Given the description of an element on the screen output the (x, y) to click on. 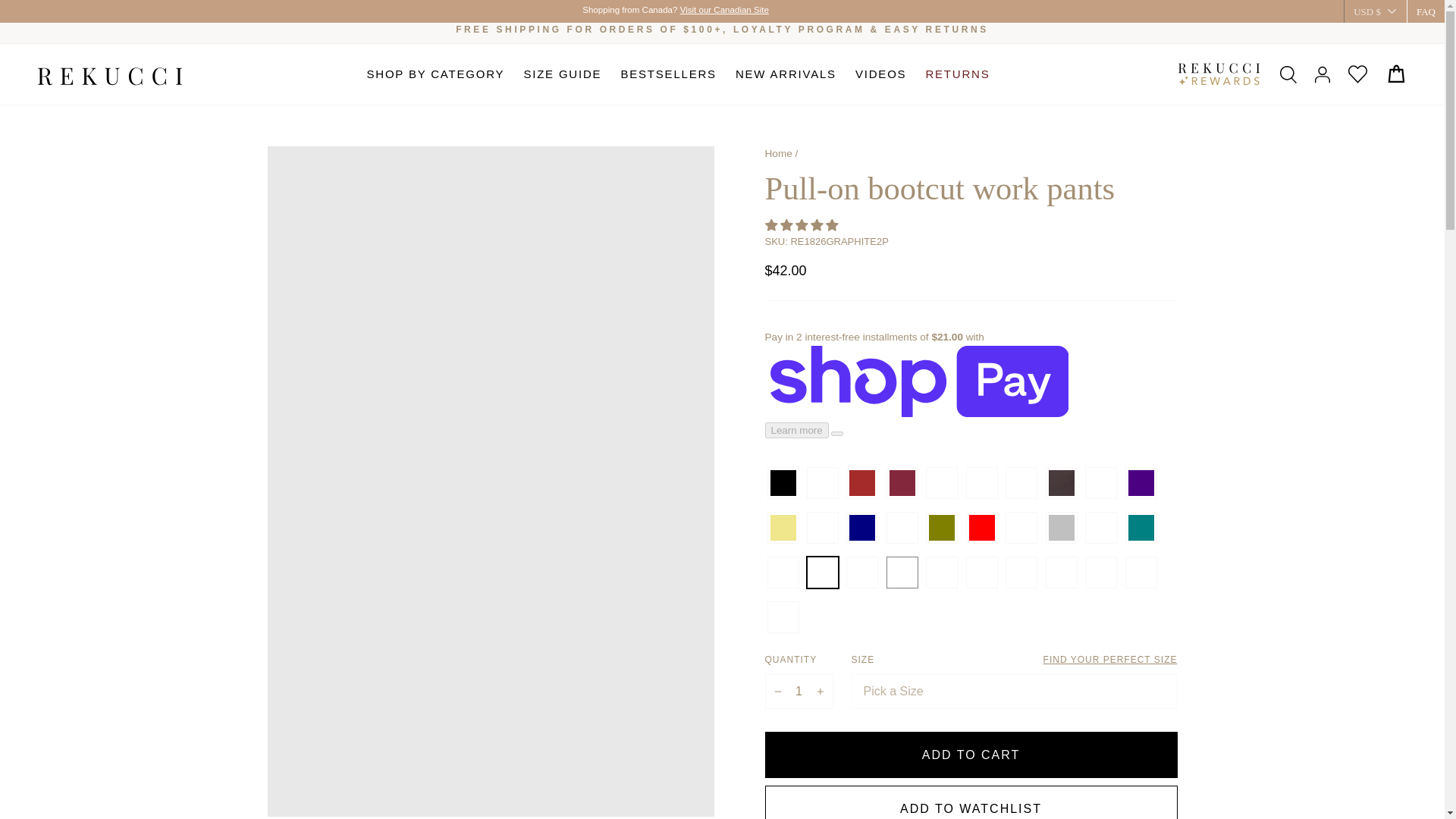
Shopping from Canada? Visit our Canadian Site (671, 10)
LOGO-REKUCCI-REWARDS-MENU (1218, 74)
EASY RETURNS (936, 29)
Return An Order (936, 29)
1 (798, 691)
SHOP BY CATEGORY (434, 73)
Back to the frontpage (778, 153)
